Given the description of an element on the screen output the (x, y) to click on. 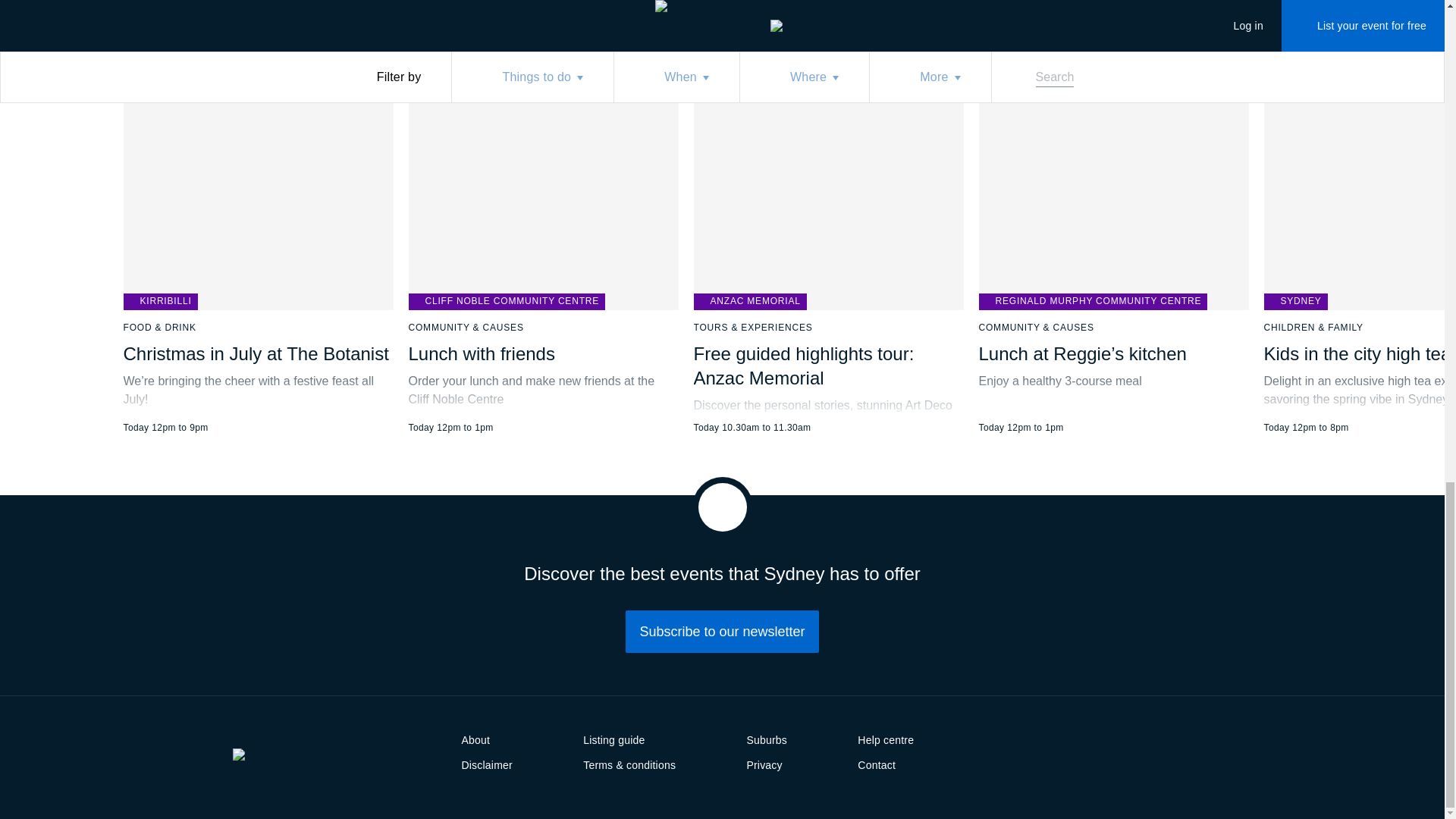
Lunch with friends (542, 237)
KIRRIBILLI (159, 301)
Christmas in July at The Botanist (257, 237)
See all (737, 4)
CLIFF NOBLE COMMUNITY CENTRE (506, 301)
Christmas in July at The Botanist (255, 353)
Free guided highlights tour: Anzac Memorial (803, 365)
Lunch with friends (480, 353)
Free guided highlights tour: Anzac Memorial (827, 237)
ANZAC MEMORIAL (749, 301)
